Given the description of an element on the screen output the (x, y) to click on. 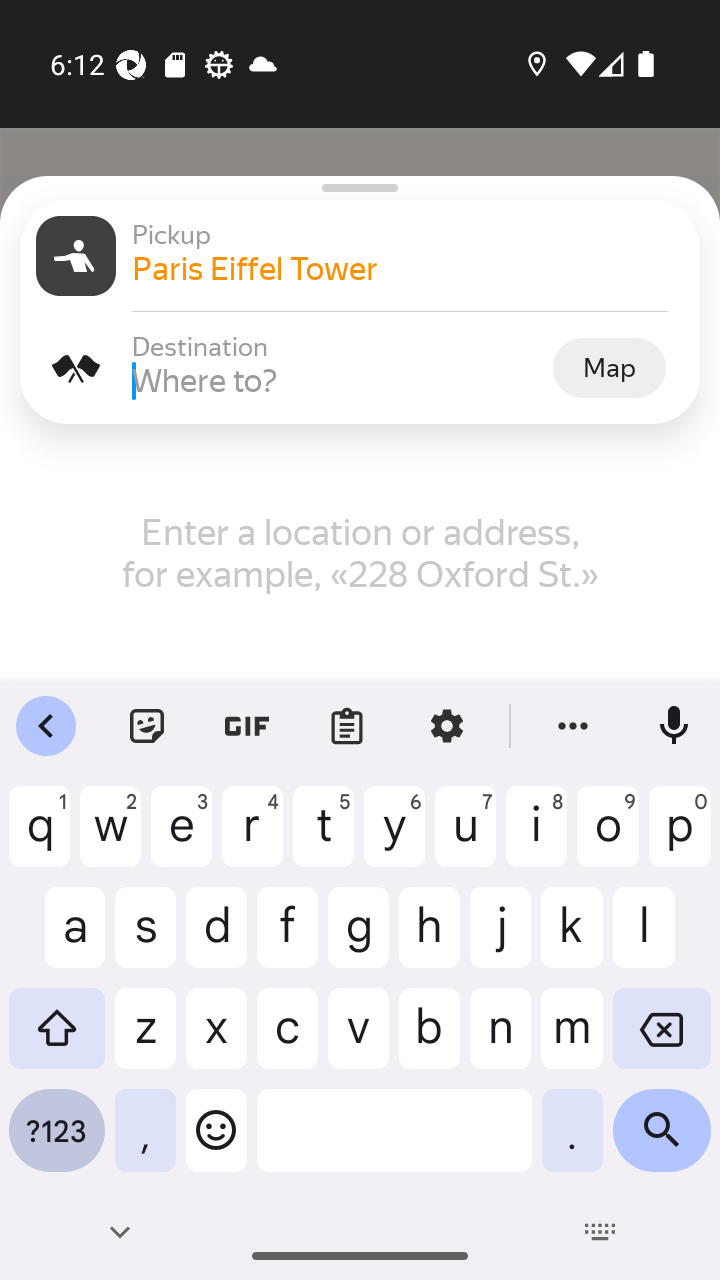
Pickup Pickup Paris Eiffel Tower (359, 255)
Paris Eiffel Tower (407, 268)
Destination Destination Where to? Map (359, 367)
Map (609, 367)
Where to? (340, 380)
